Given the description of an element on the screen output the (x, y) to click on. 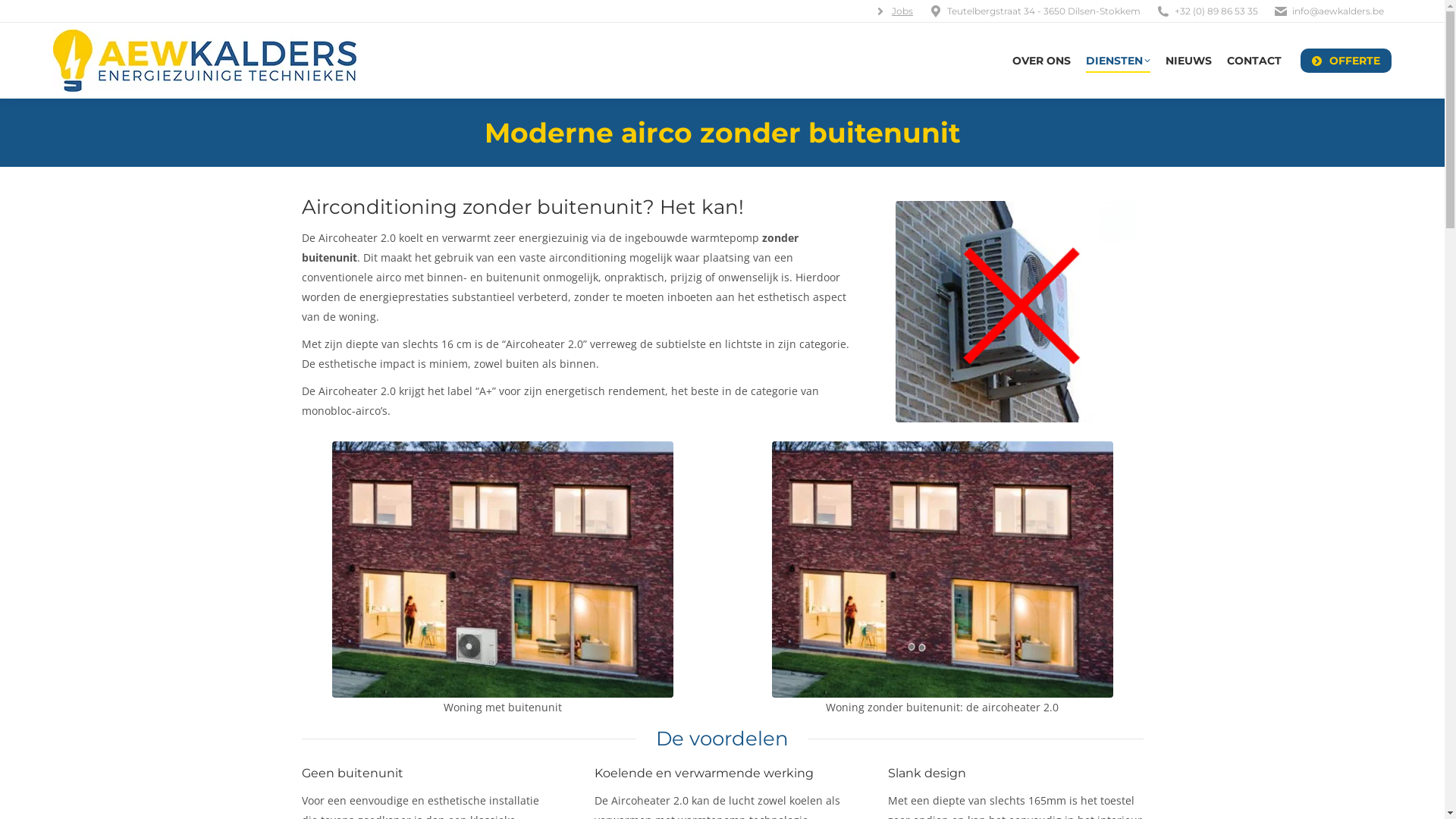
NIEUWS Element type: text (1188, 60)
MET-buitenunit Element type: hover (502, 569)
ZONDER-buitenunit Element type: hover (942, 569)
OFFERTE Element type: text (1345, 60)
DIENSTEN Element type: text (1117, 60)
CONTACT Element type: text (1253, 60)
OVER ONS Element type: text (1041, 60)
Jobs Element type: text (902, 10)
